Given the description of an element on the screen output the (x, y) to click on. 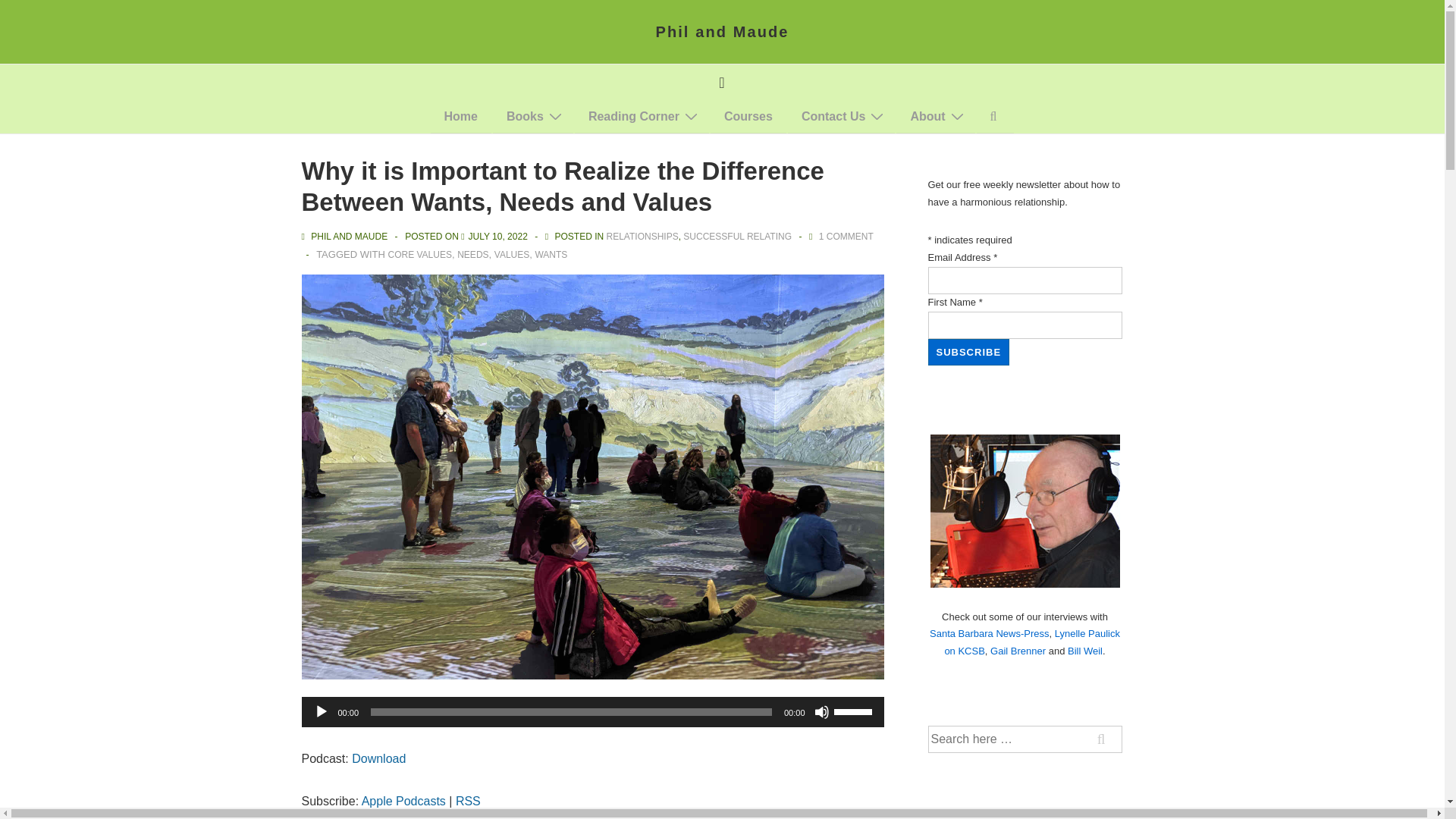
Download (379, 758)
CORE VALUES (419, 254)
PHIL AND MAUDE (345, 235)
Reading Corner (642, 116)
Contact Us (841, 116)
Write to Phil and Maude (841, 116)
Mute (821, 711)
About the authors (935, 116)
About (935, 116)
1 COMMENT (845, 235)
Books (533, 116)
VALUES (512, 254)
Subscribe via RSS (467, 800)
Subscribe on Apple Podcasts (403, 800)
Apple Podcasts (403, 800)
